Given the description of an element on the screen output the (x, y) to click on. 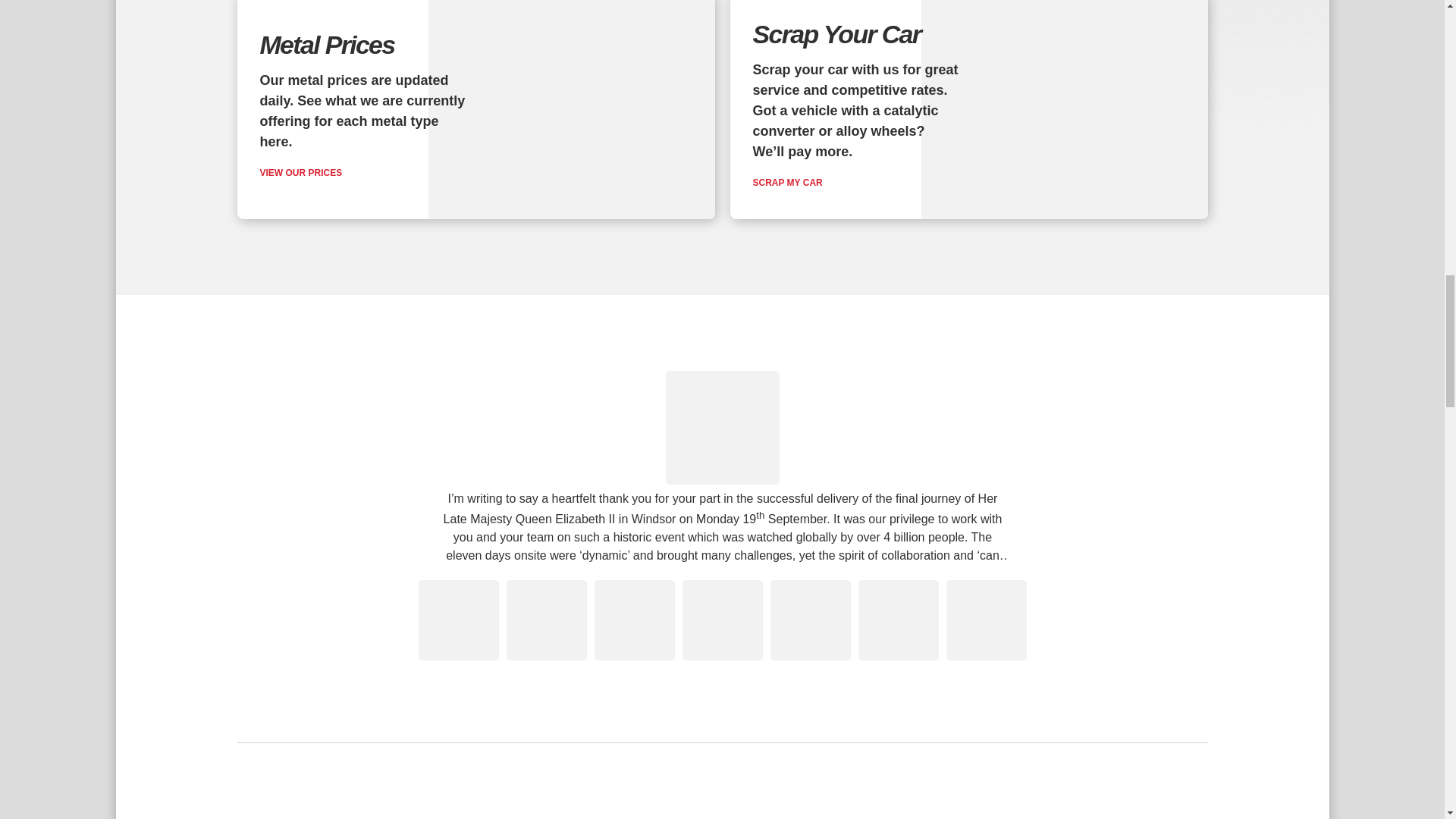
next (1069, 515)
prev (374, 515)
